Given the description of an element on the screen output the (x, y) to click on. 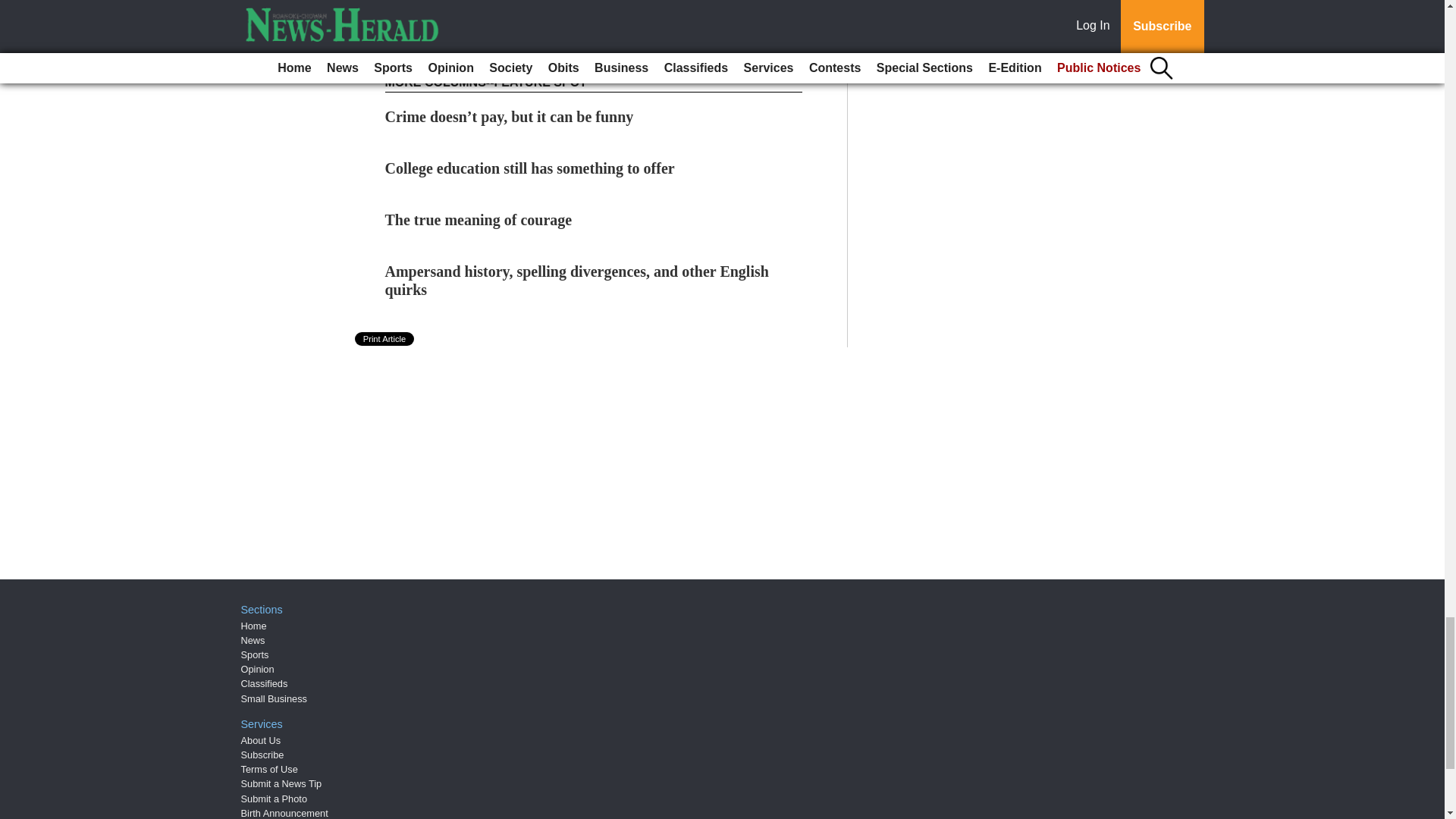
The true meaning of courage (478, 219)
College education still has something to offer (530, 167)
More by Cal (432, 32)
College education still has something to offer (530, 167)
